Given the description of an element on the screen output the (x, y) to click on. 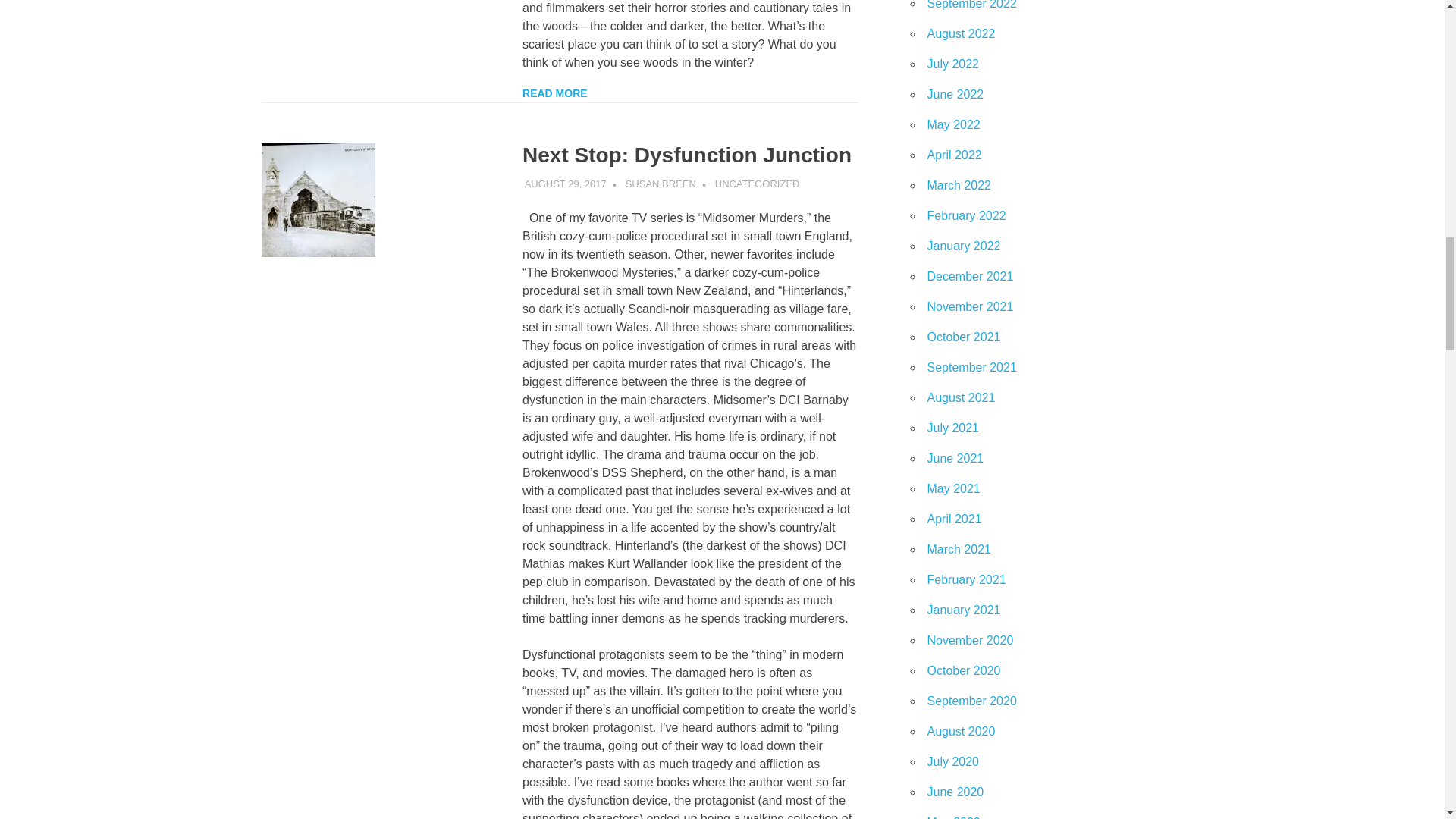
4:39 pm (565, 183)
UNCATEGORIZED (756, 183)
View all posts by Susan Breen (660, 183)
SUSAN BREEN (660, 183)
Next Stop: Dysfunction Junction (686, 155)
READ MORE (555, 93)
AUGUST 29, 2017 (565, 183)
